Given the description of an element on the screen output the (x, y) to click on. 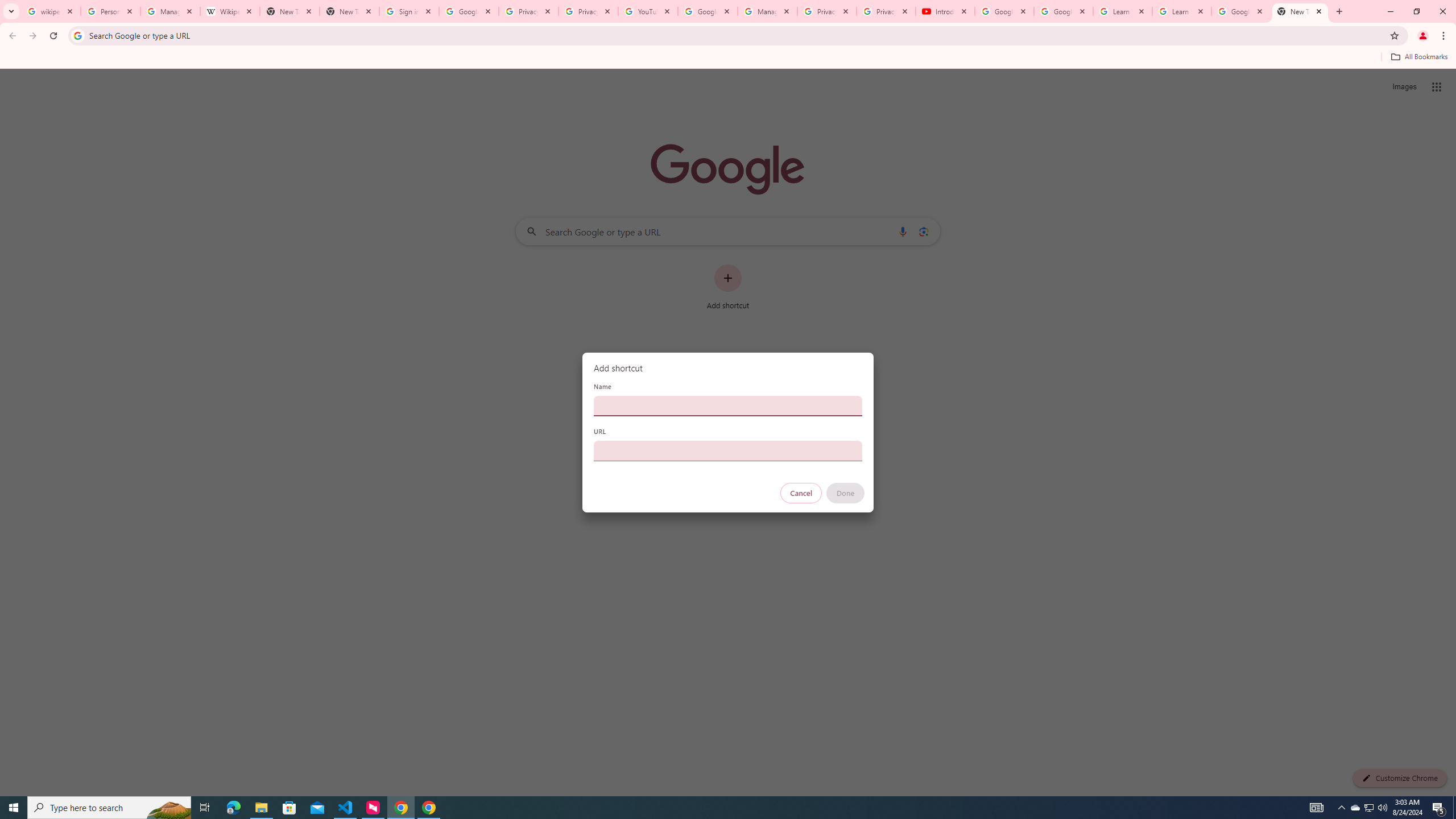
Introduction | Google Privacy Policy - YouTube (944, 11)
New Tab (1300, 11)
Google Account (1241, 11)
Cancel (801, 493)
